Given the description of an element on the screen output the (x, y) to click on. 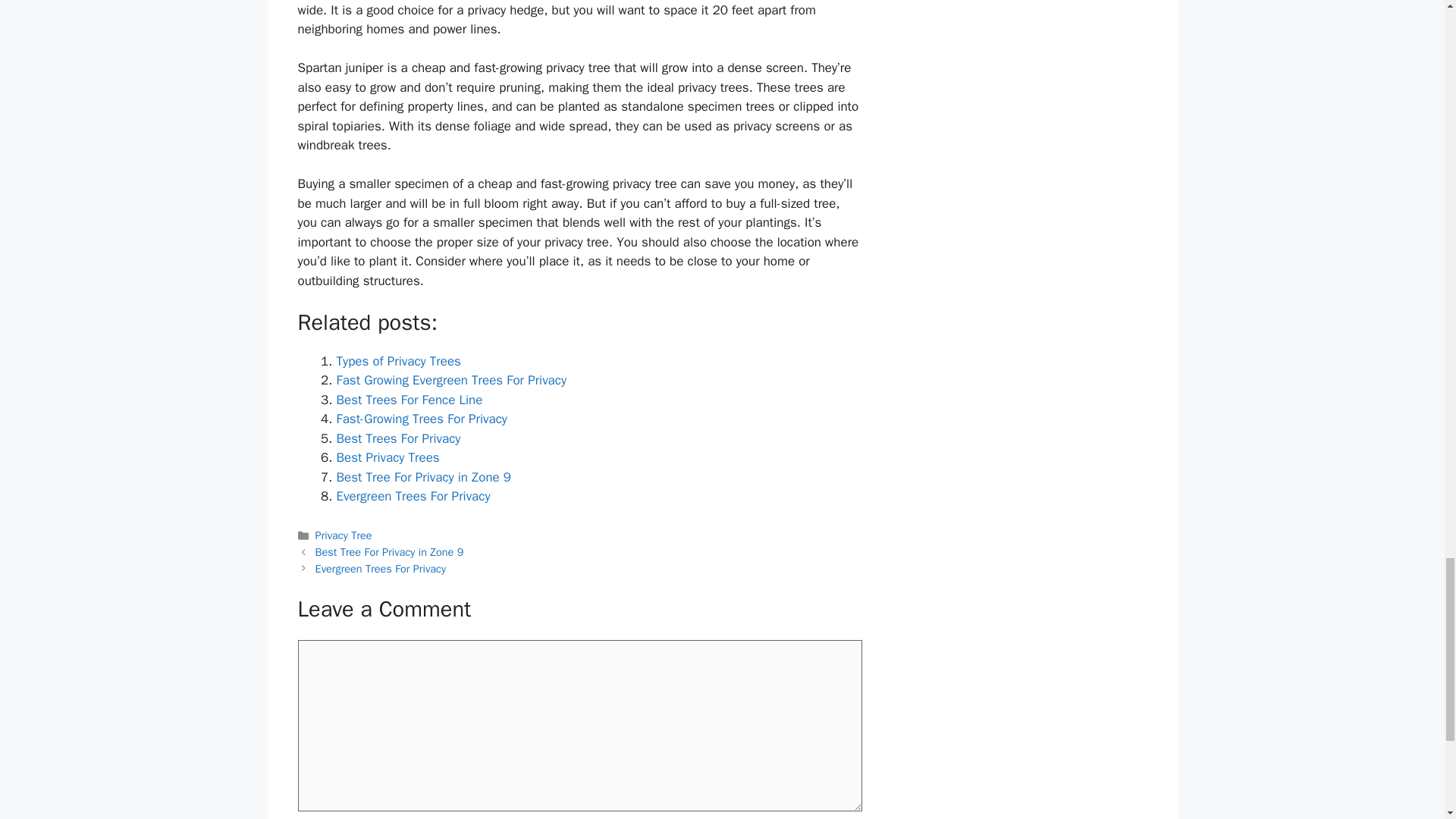
Fast-Growing Trees For Privacy (421, 418)
Best Tree For Privacy in Zone 9 (424, 477)
Types of Privacy Trees (398, 360)
Best Tree For Privacy in Zone 9 (389, 551)
Best Trees For Privacy (398, 438)
Fast Growing Evergreen Trees For Privacy (451, 380)
Best Privacy Trees (387, 457)
Best Trees For Fence Line (409, 399)
Types of Privacy Trees (398, 360)
Evergreen Trees For Privacy (413, 496)
